Given the description of an element on the screen output the (x, y) to click on. 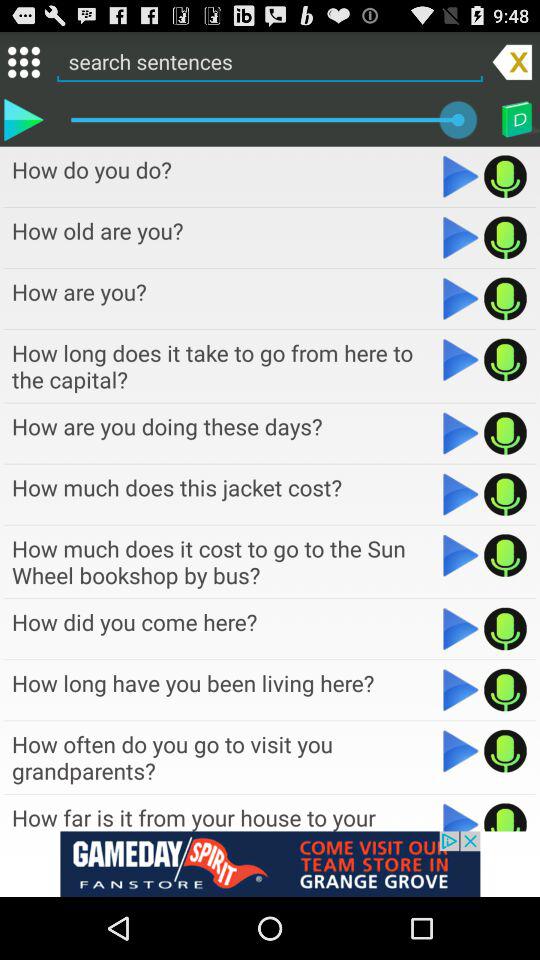
play sentence (23, 119)
